Given the description of an element on the screen output the (x, y) to click on. 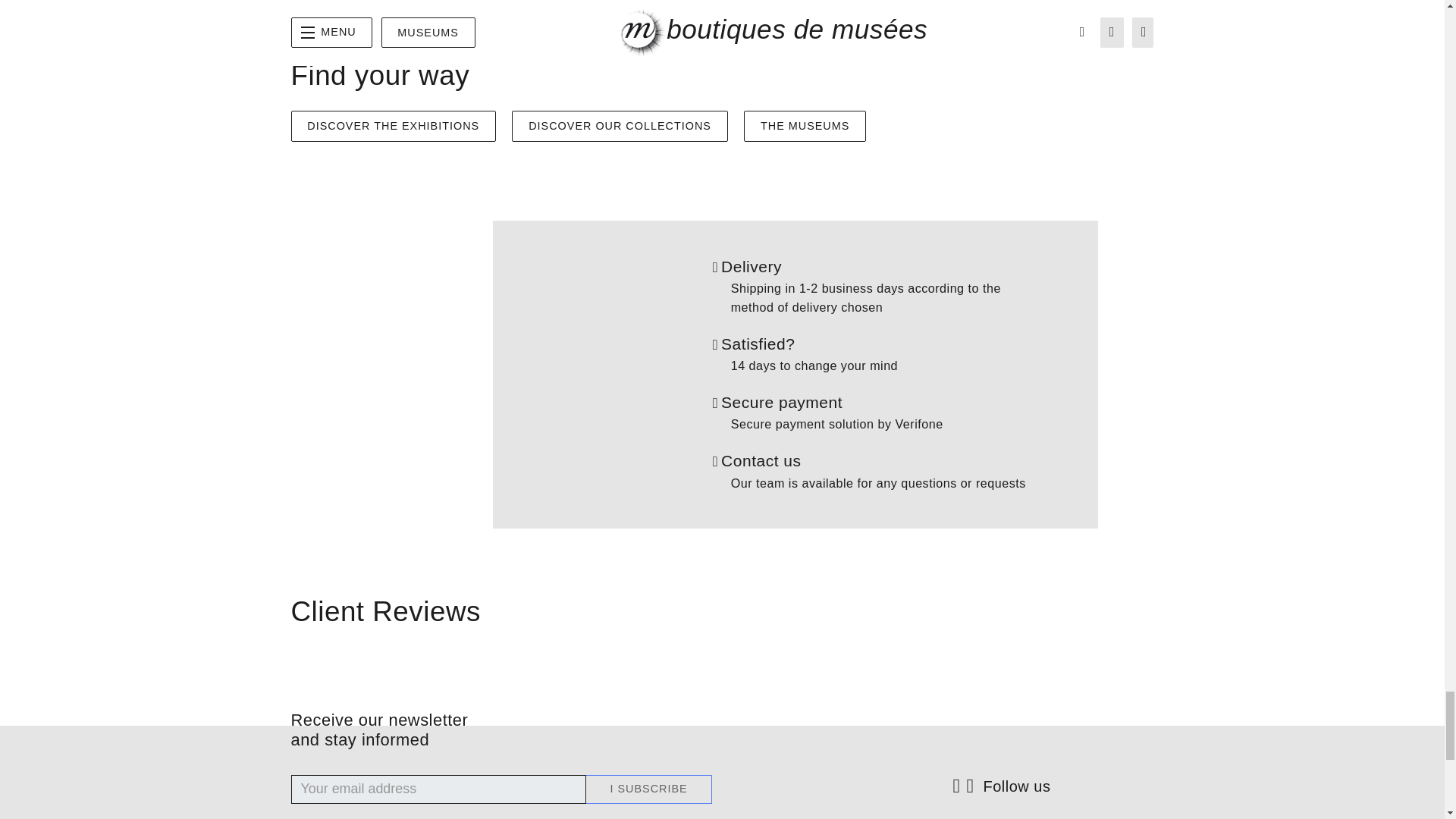
I subscribe (649, 788)
